Given the description of an element on the screen output the (x, y) to click on. 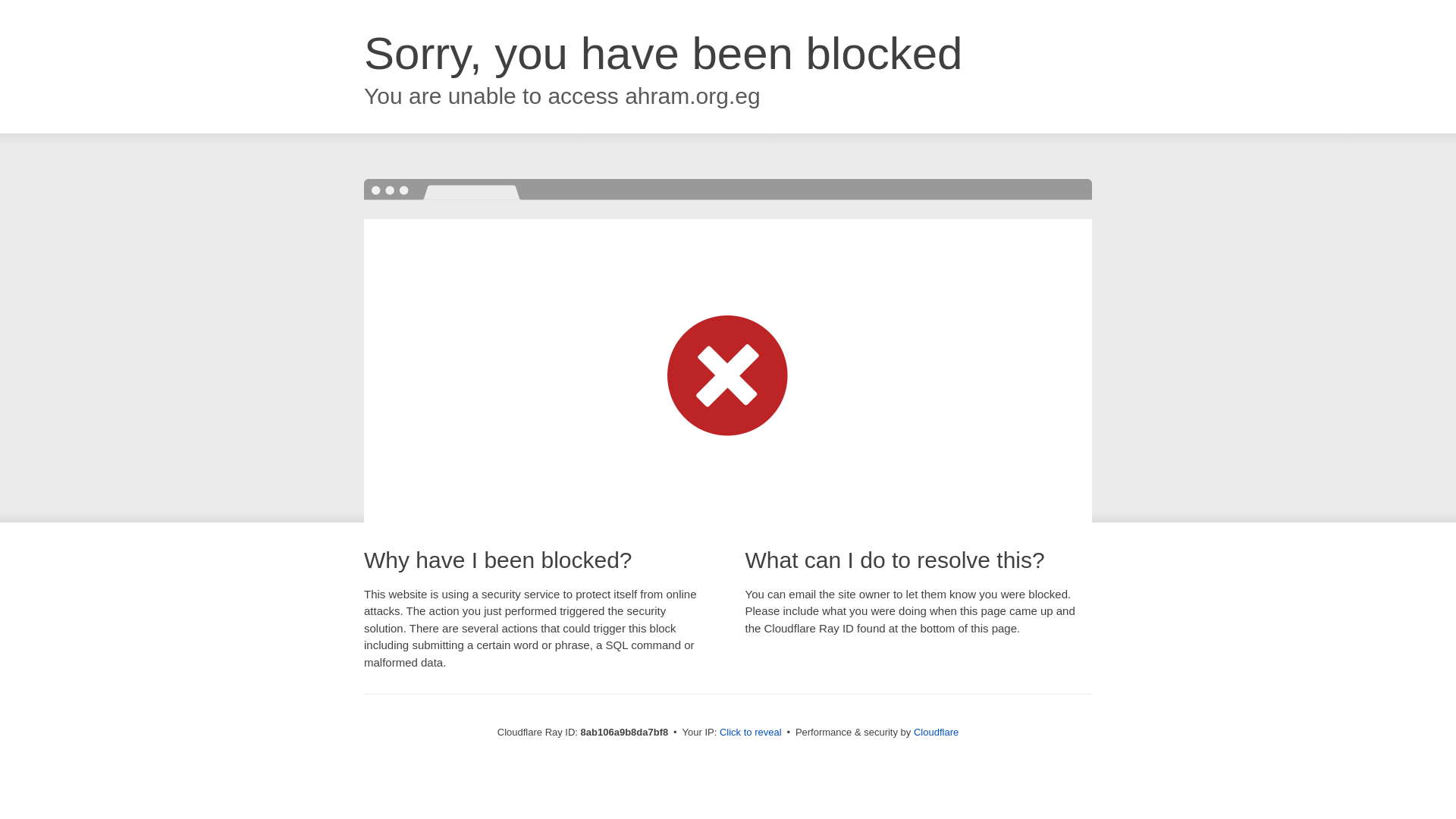
Click to reveal (750, 732)
Cloudflare (936, 731)
